Given the description of an element on the screen output the (x, y) to click on. 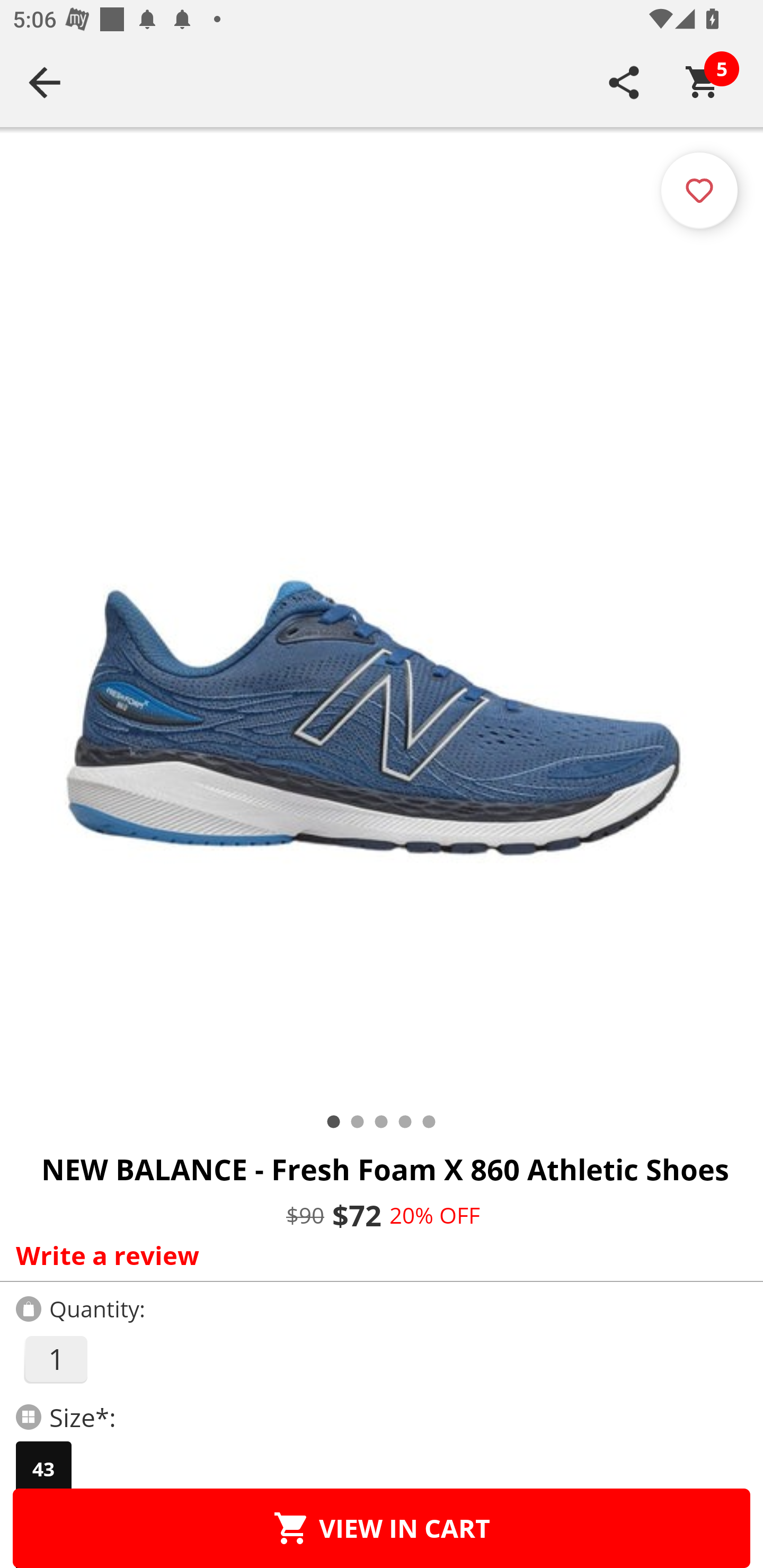
Navigate up (44, 82)
SHARE (623, 82)
Cart (703, 81)
Write a review (377, 1255)
1 (55, 1358)
43 (43, 1468)
VIEW IN CART (381, 1528)
